Given the description of an element on the screen output the (x, y) to click on. 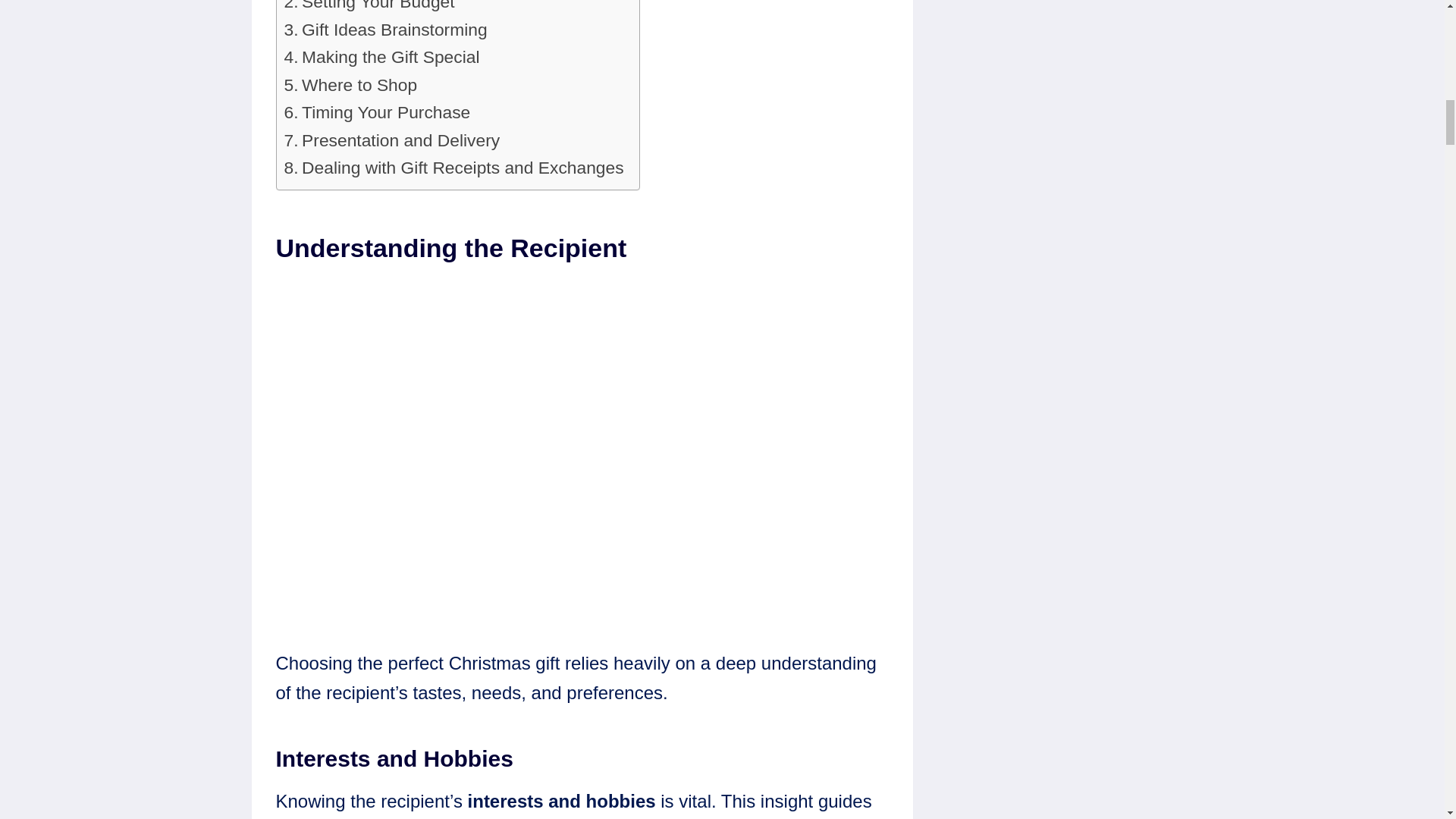
Dealing with Gift Receipts and Exchanges (453, 166)
Timing Your Purchase (376, 112)
Making the Gift Special (381, 56)
Presentation and Delivery (391, 139)
Making the Gift Special (381, 56)
Setting Your Budget (368, 7)
Where to Shop (349, 84)
Where to Shop (349, 84)
Gift Ideas Brainstorming (384, 29)
Setting Your Budget (368, 7)
